Given the description of an element on the screen output the (x, y) to click on. 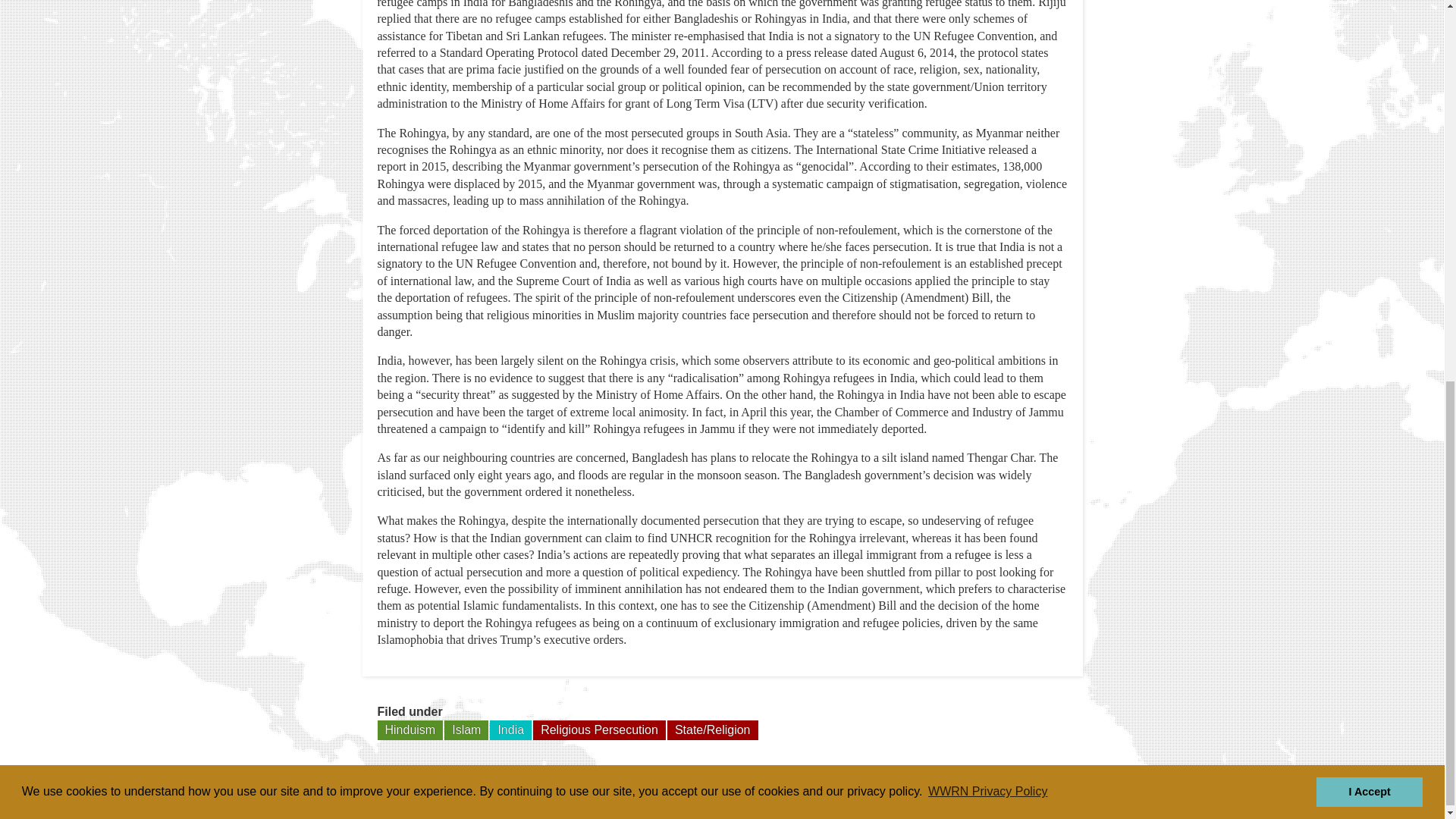
Religious Persecution (598, 730)
India (510, 730)
ABOUT (785, 795)
THEMES (1046, 795)
I Accept (1369, 75)
WWRN Privacy Policy (987, 75)
Islam (465, 730)
RELIGIONS (870, 795)
REGIONS (962, 795)
Hinduism (410, 730)
